Given the description of an element on the screen output the (x, y) to click on. 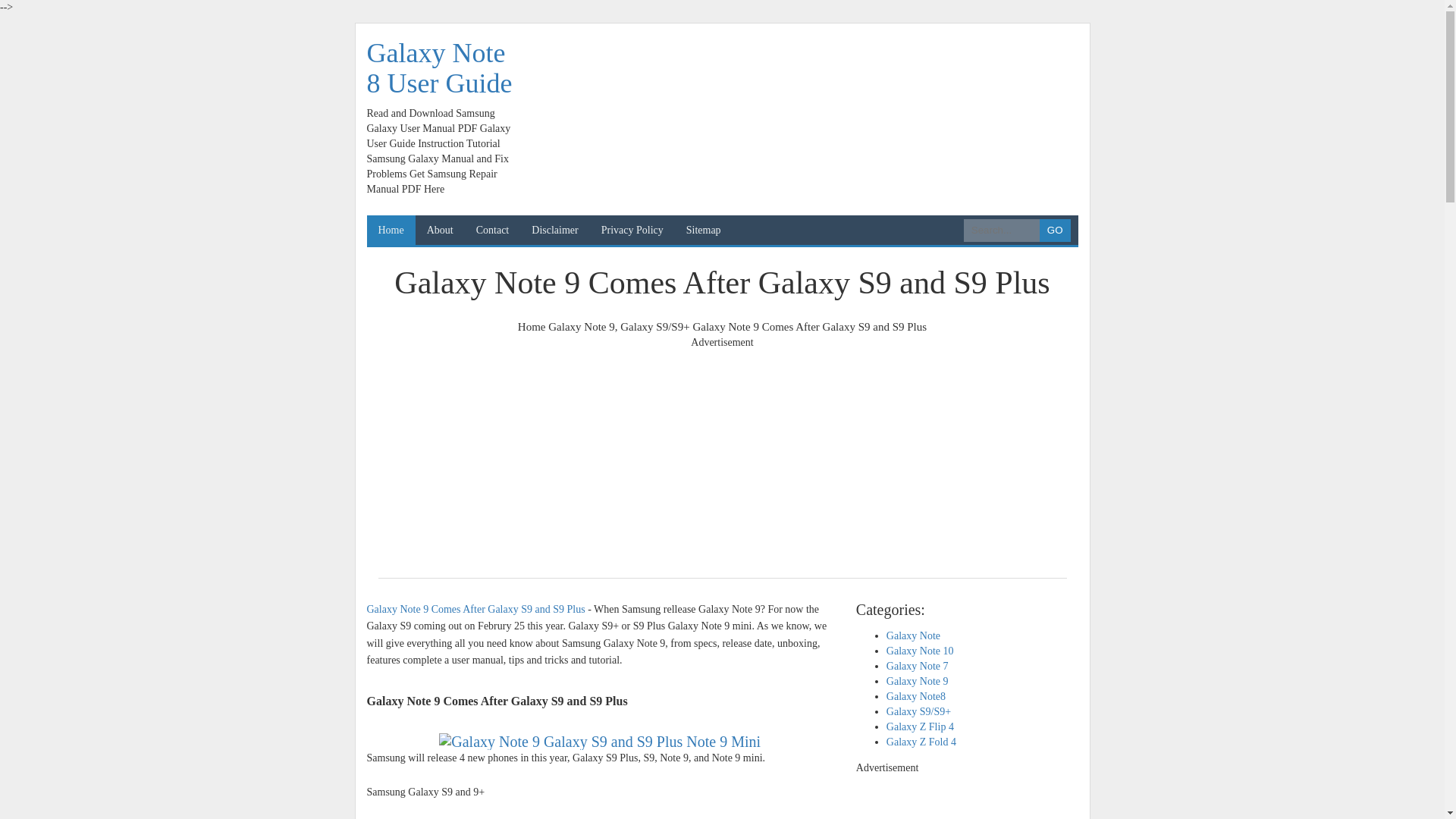
Galaxy Note 9 Comes After Galaxy S9 and S9 Plus (599, 741)
Disclaimer (554, 230)
Contact (492, 230)
Disclaimer (554, 230)
Galaxy Note 8 User Guide (439, 67)
About (439, 230)
Home (532, 326)
Galaxy Note 9 (581, 326)
GO (1054, 230)
